Given the description of an element on the screen output the (x, y) to click on. 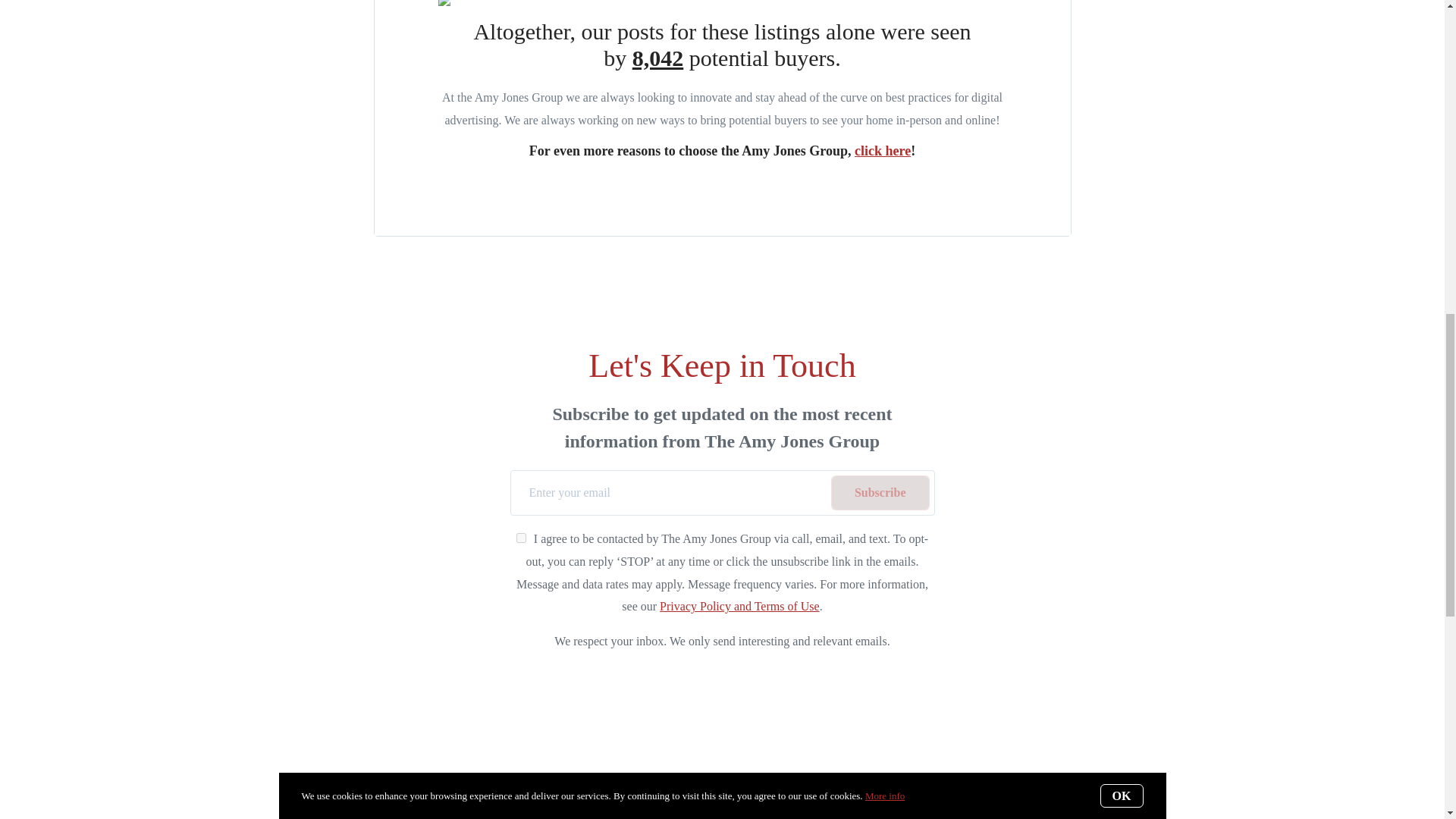
on (520, 537)
Privacy Policy and Terms of Use (739, 605)
Subscribe (880, 492)
click here (882, 150)
